Given the description of an element on the screen output the (x, y) to click on. 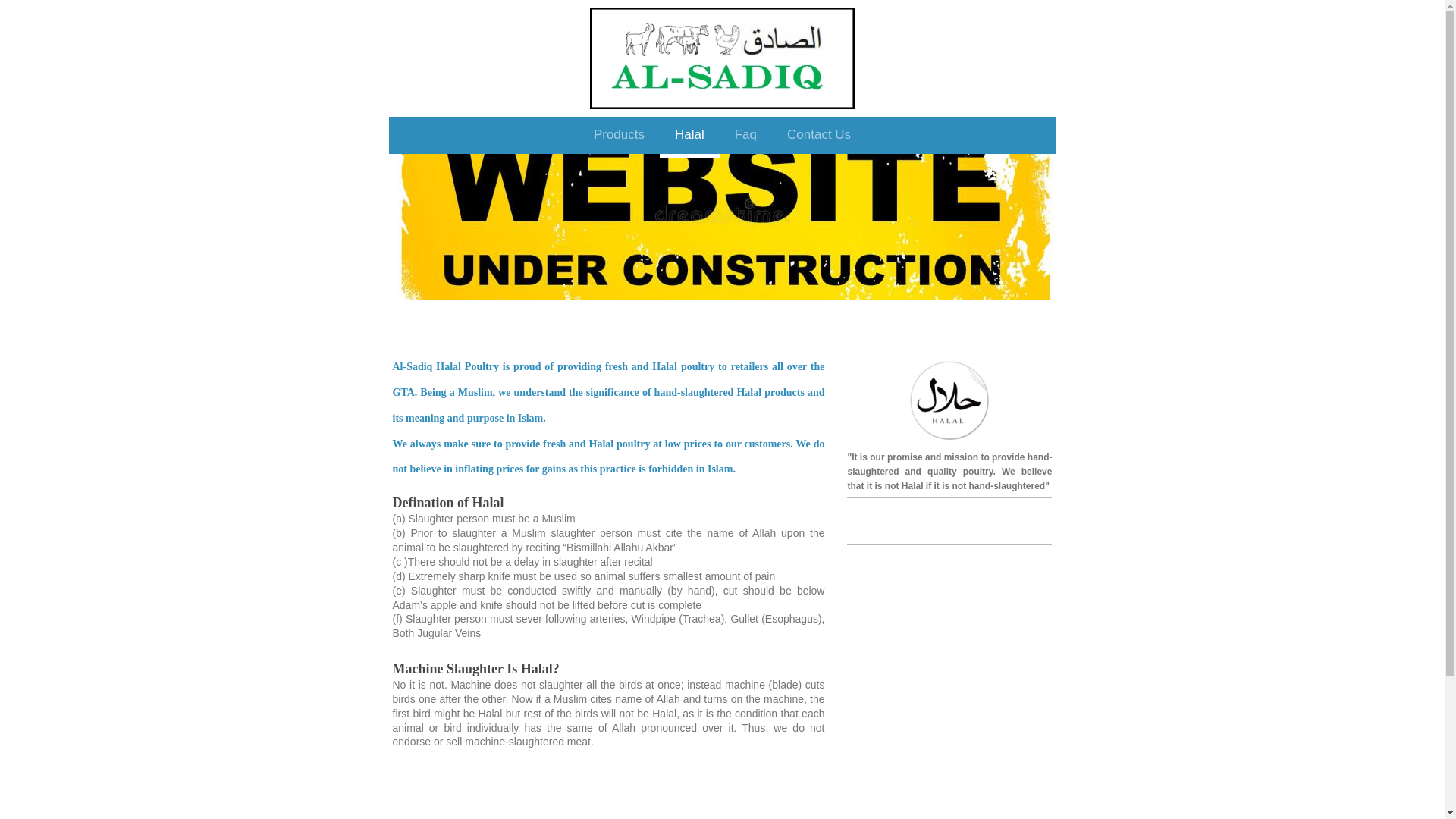
Halal Element type: text (689, 136)
Contact Us Element type: text (818, 136)
Products Element type: text (618, 136)
Faq Element type: text (745, 136)
